Given the description of an element on the screen output the (x, y) to click on. 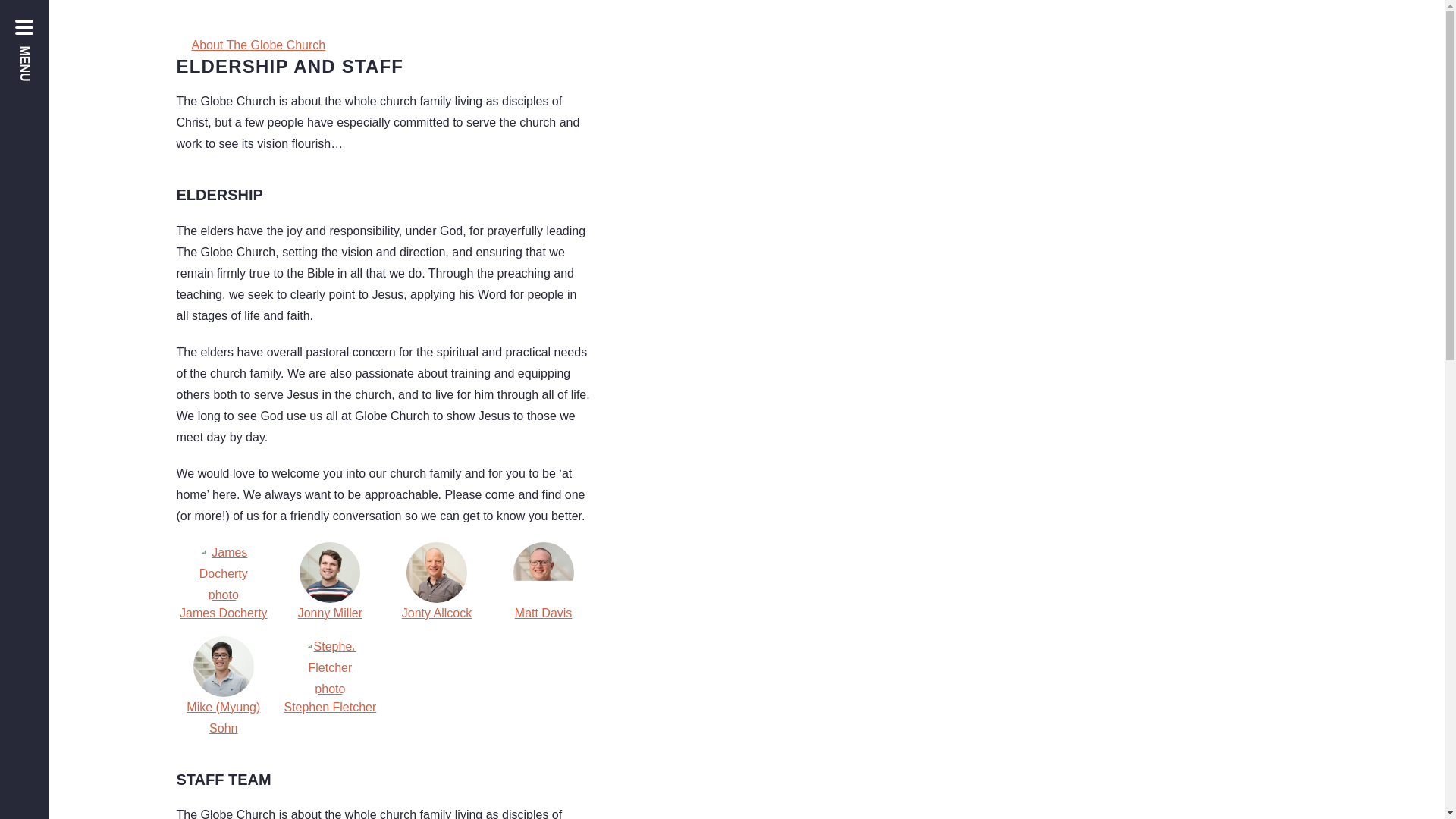
About The Globe Church (745, 45)
Stephen Fletcher (329, 687)
Jonty Allcock (437, 583)
James Docherty (223, 583)
Jonny Miller (329, 583)
Matt Davis (543, 583)
The Globe Church (1318, 22)
